Given the description of an element on the screen output the (x, y) to click on. 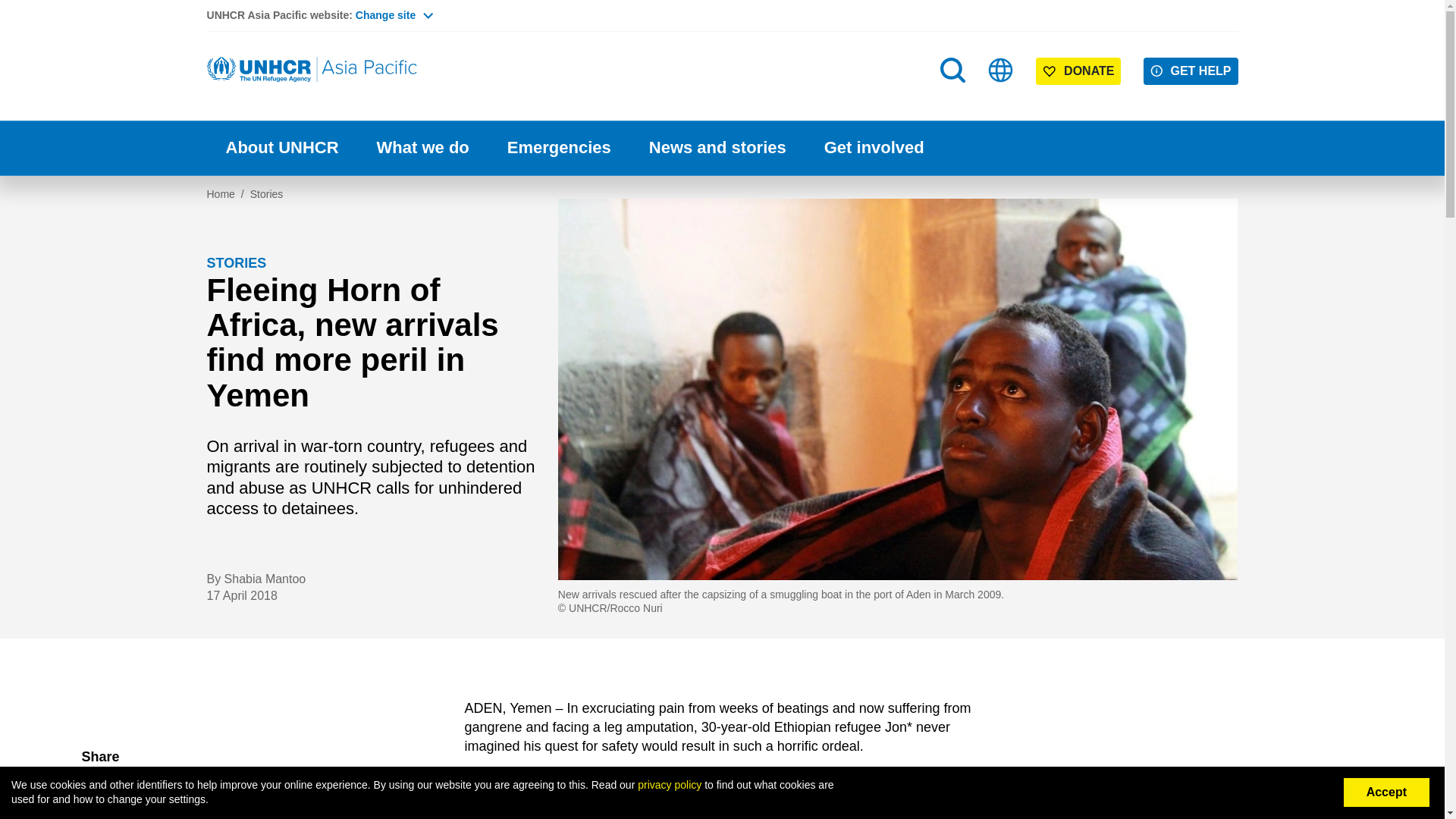
Home (312, 69)
Search (954, 99)
DONATE (1078, 71)
GET HELP (1189, 71)
Skip to main content (721, 1)
About UNHCR (281, 148)
Change site (393, 15)
Sites (1000, 69)
Search (952, 69)
